Given the description of an element on the screen output the (x, y) to click on. 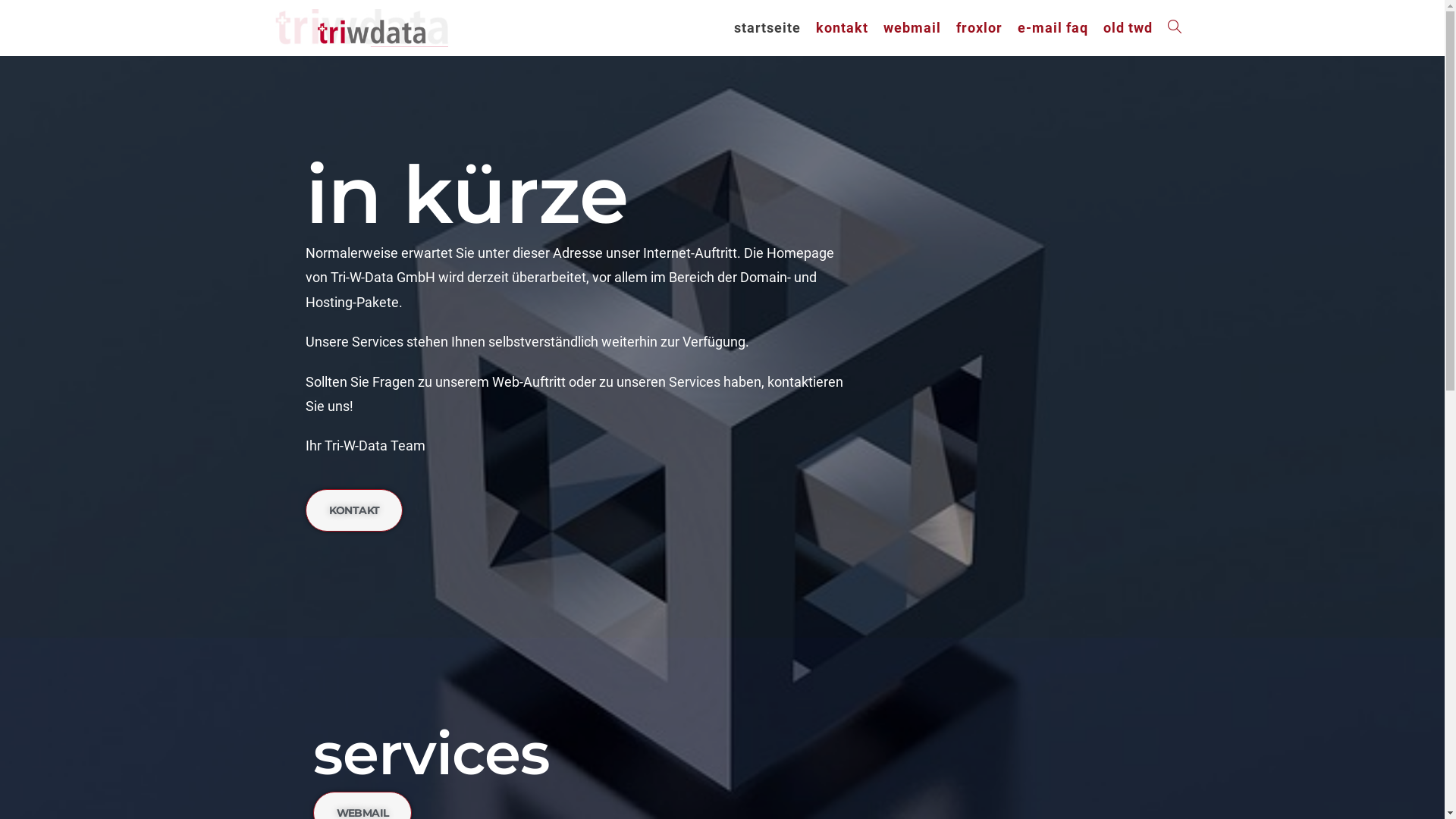
froxlor Element type: text (978, 28)
KONTAKT Element type: text (353, 510)
startseite Element type: text (767, 28)
webmail Element type: text (911, 28)
e-mail faq Element type: text (1052, 28)
kontakt Element type: text (841, 28)
old twd Element type: text (1127, 28)
